Given the description of an element on the screen output the (x, y) to click on. 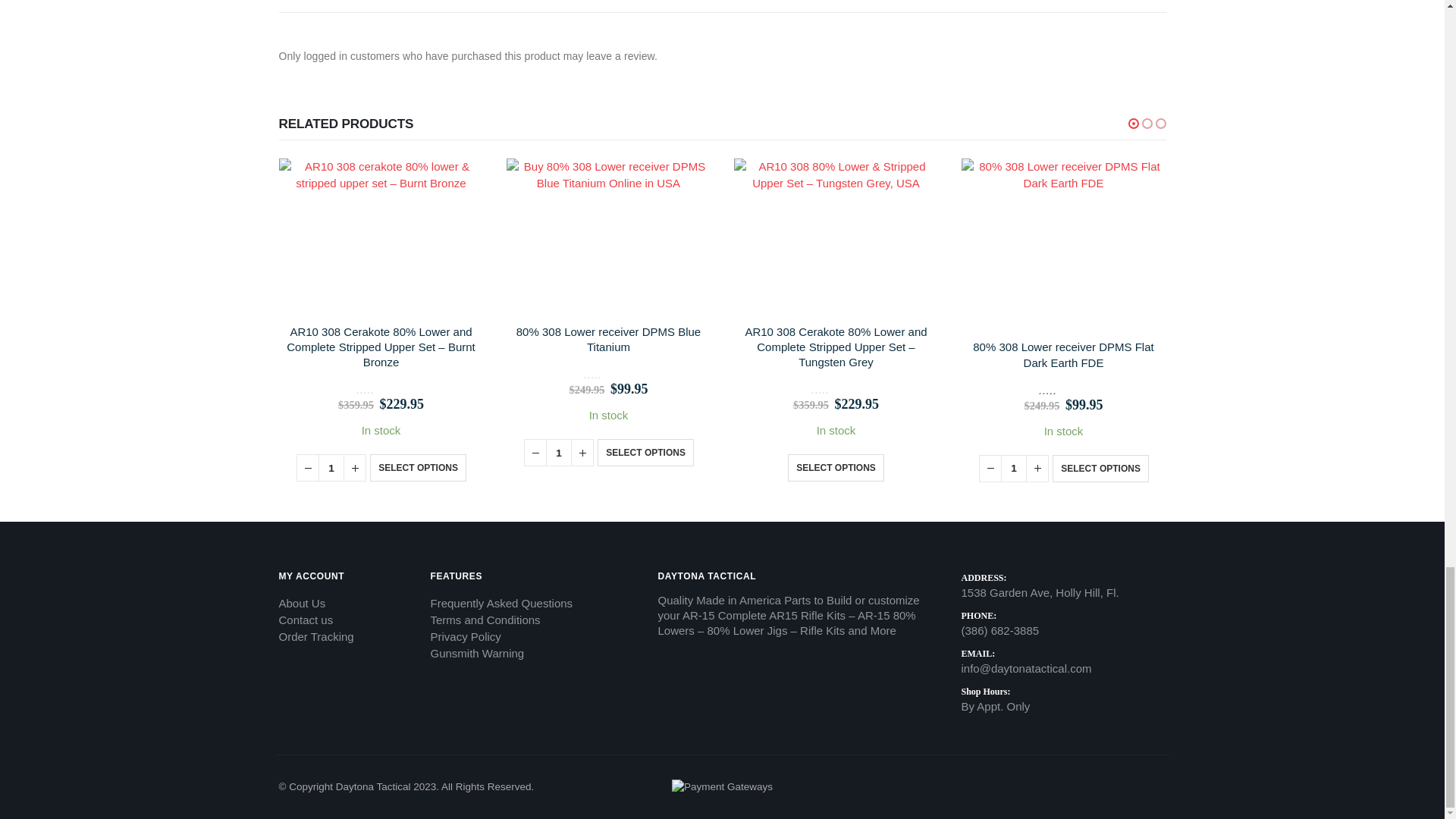
1 (330, 467)
1 (559, 452)
1 (1013, 468)
